Given the description of an element on the screen output the (x, y) to click on. 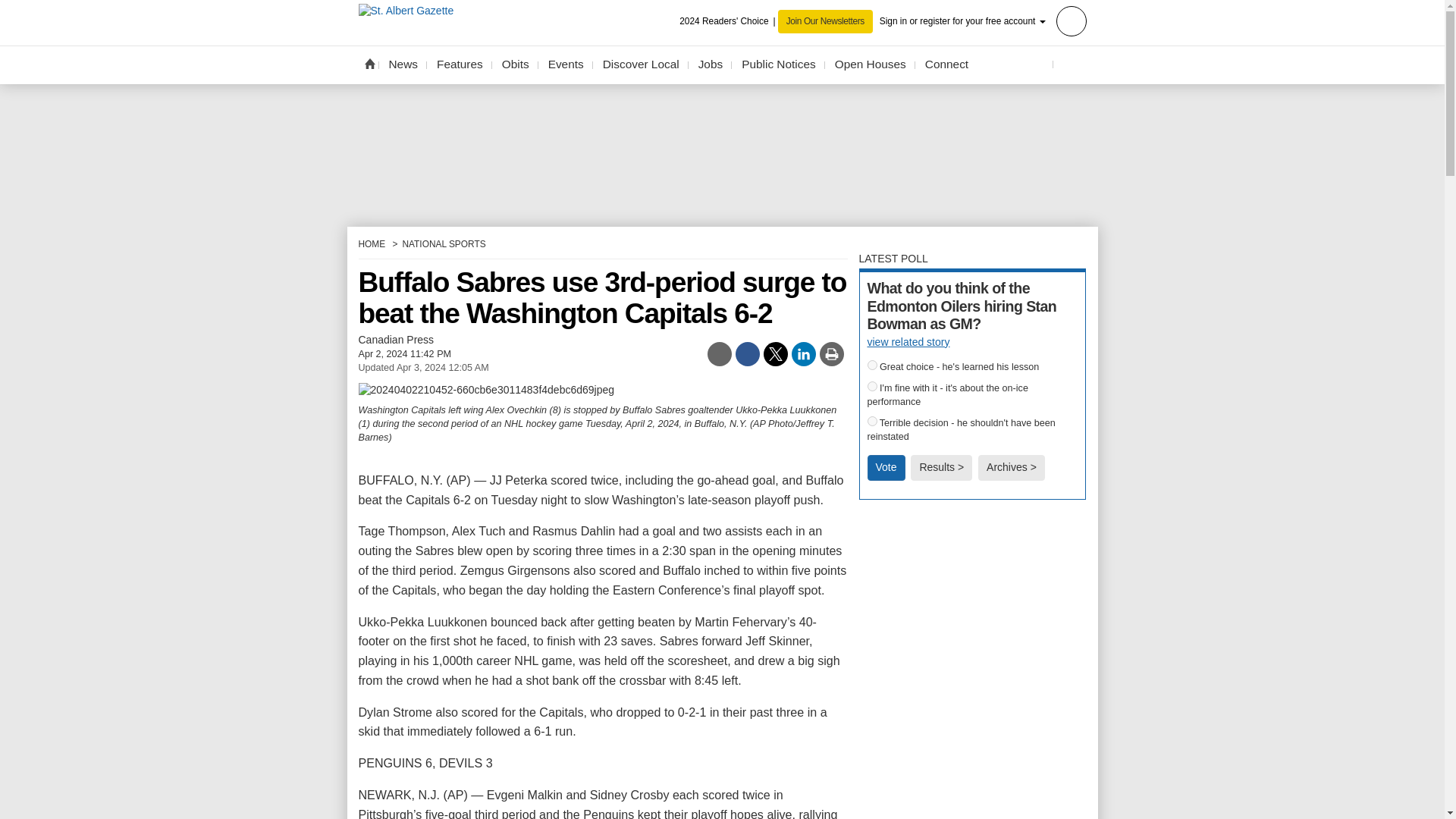
Sign in or register for your free account (982, 20)
122834 (872, 420)
122832 (872, 365)
Join Our Newsletters (824, 21)
122833 (872, 386)
2024 Readers' Choice (728, 21)
Home (368, 63)
